Given the description of an element on the screen output the (x, y) to click on. 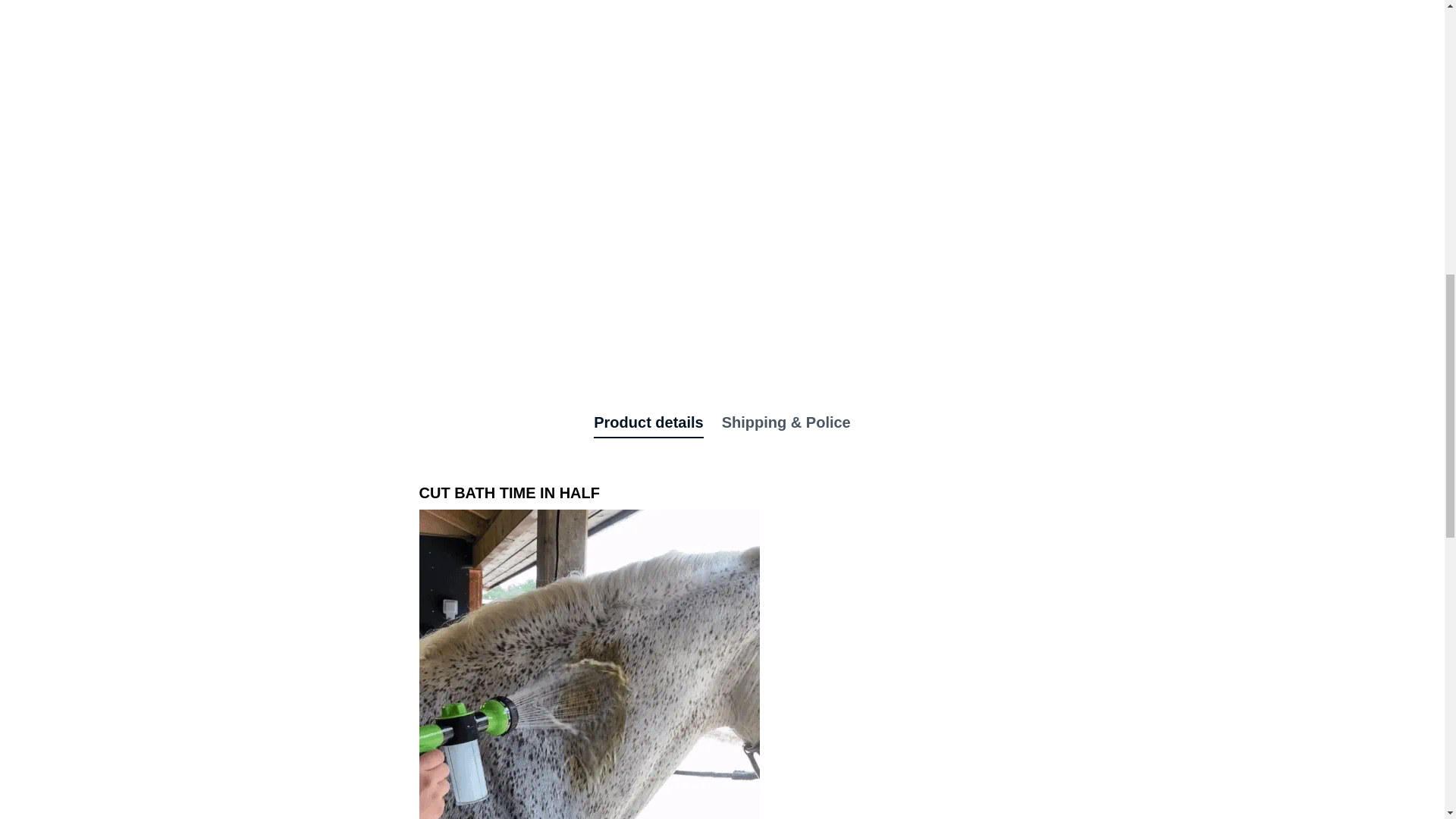
Product details (648, 422)
